Given the description of an element on the screen output the (x, y) to click on. 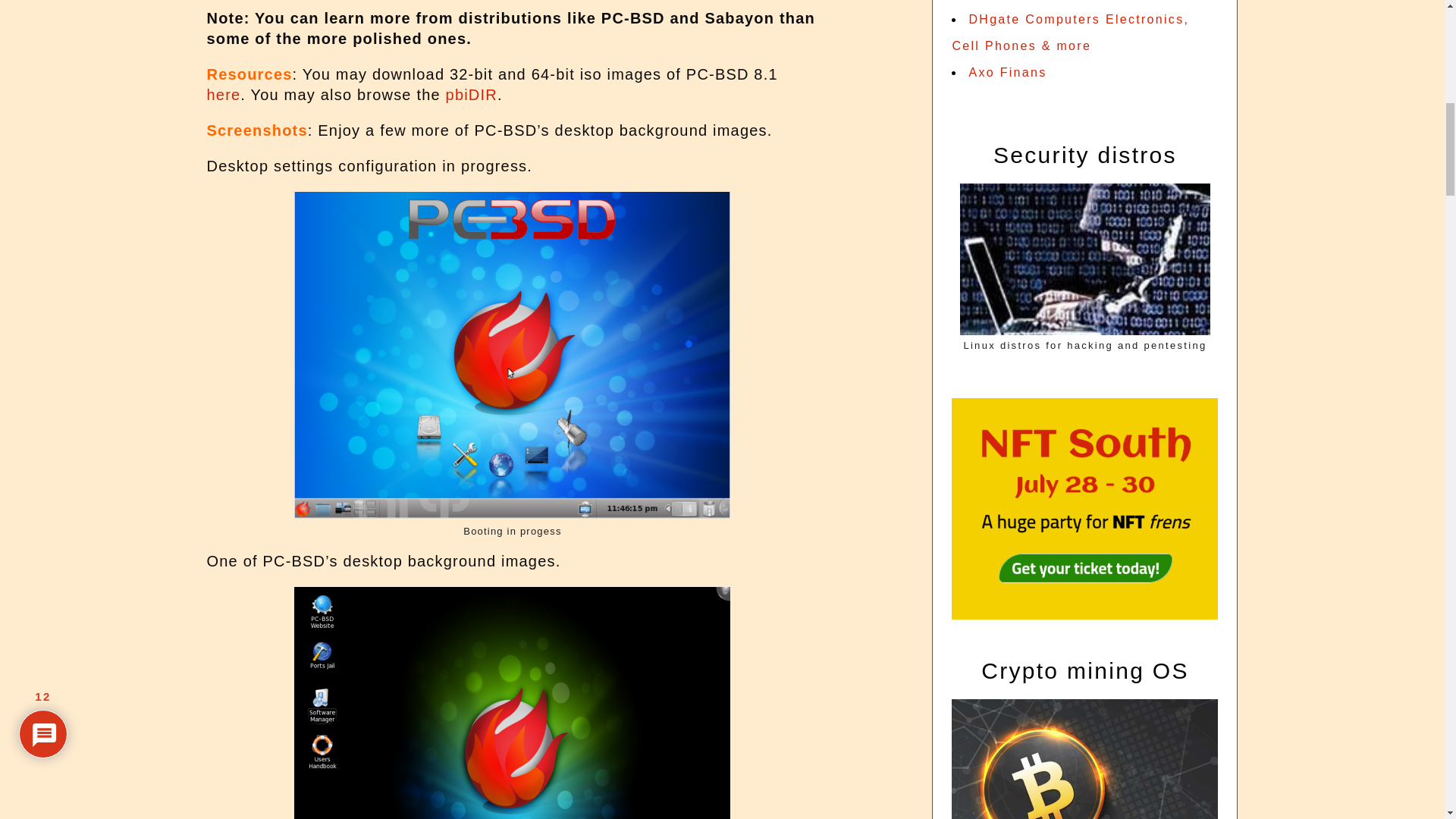
here (223, 94)
pbiDIR (471, 94)
